Given the description of an element on the screen output the (x, y) to click on. 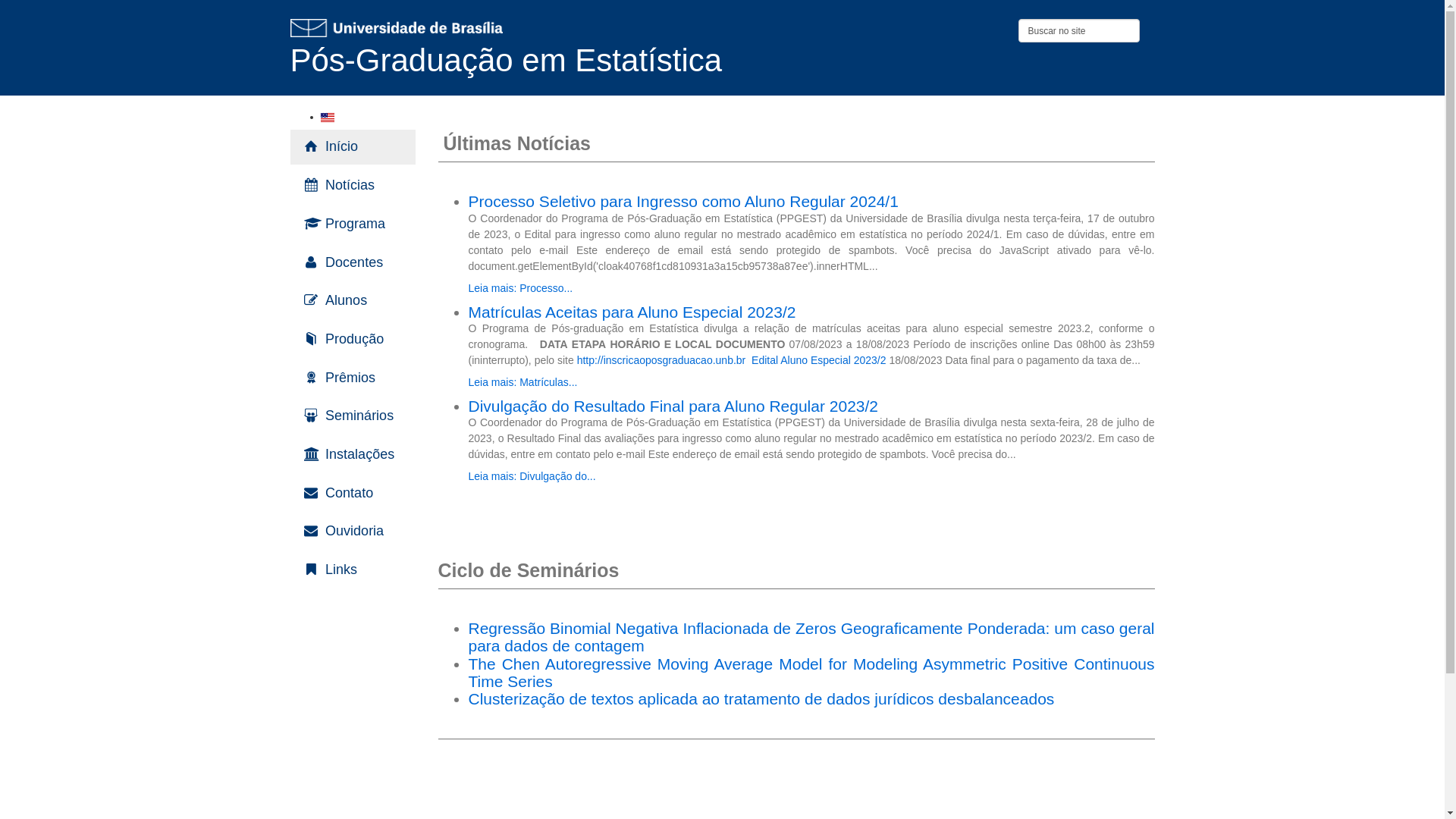
Processo Seletivo para Ingresso como Aluno Regular 2024/1 Element type: text (683, 201)
Contato Element type: text (351, 493)
Links Element type: text (351, 569)
Docentes Element type: text (351, 262)
English (UK) Element type: hover (326, 117)
http://inscricaoposgraduacao.unb.br Element type: text (661, 360)
Edital Aluno Especial 2023/2 Element type: text (818, 360)
Ouvidoria Element type: text (351, 531)
Leia mais: Processo... Element type: text (520, 288)
